Given the description of an element on the screen output the (x, y) to click on. 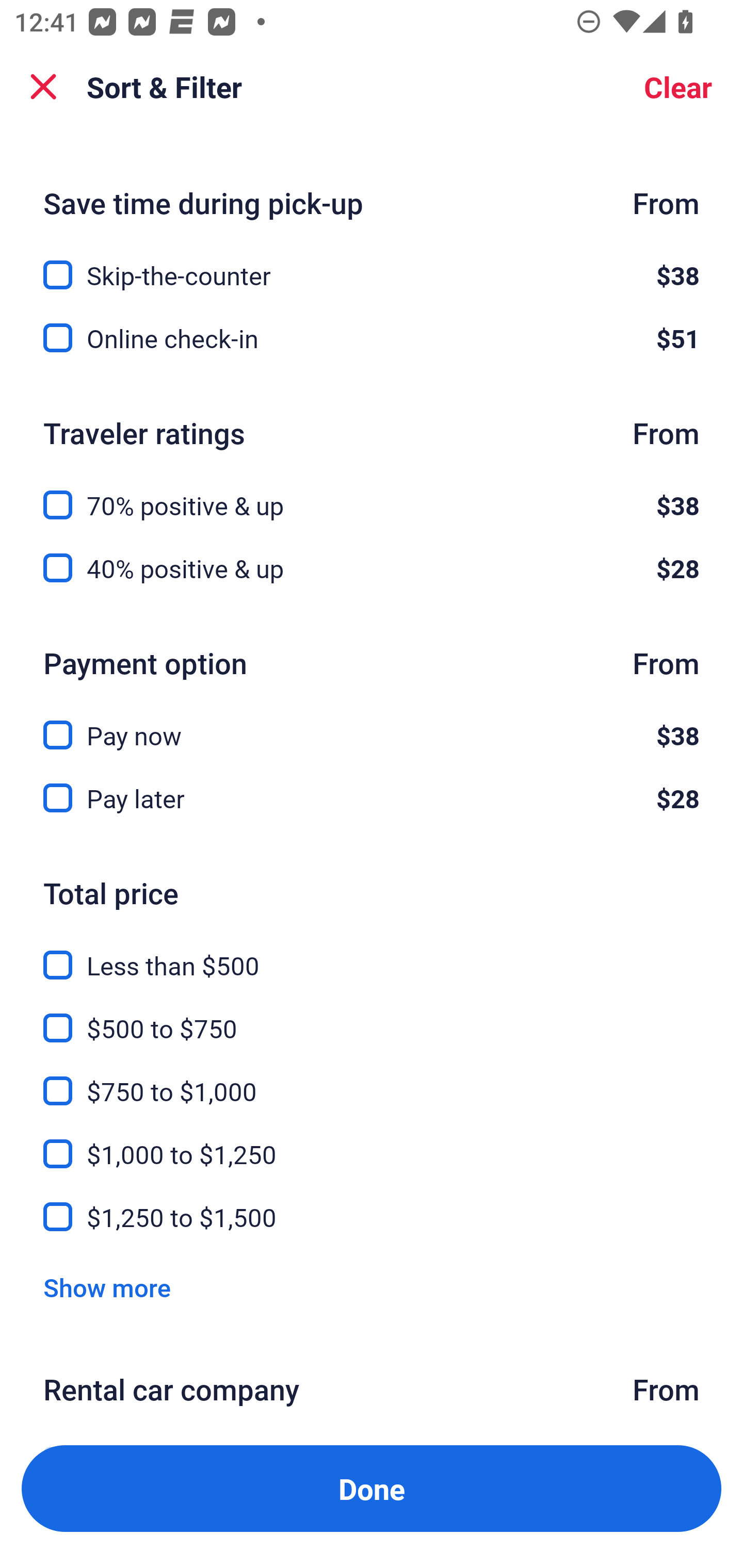
Close Sort and Filter (43, 86)
Clear (677, 86)
Skip-the-counter, $38 Skip-the-counter $38 (371, 263)
Online check-in, $51 Online check-in $51 (371, 337)
70% positive & up, $38 70% positive & up $38 (371, 493)
40% positive & up, $28 40% positive & up $28 (371, 568)
Pay now, $38 Pay now $38 (371, 723)
Pay later, $28 Pay later $28 (371, 798)
Less than $500, Less than $500 (371, 952)
$500 to $750, $500 to $750 (371, 1015)
$750 to $1,000, $750 to $1,000 (371, 1079)
$1,000 to $1,250, $1,000 to $1,250 (371, 1142)
$1,250 to $1,500, $1,250 to $1,500 (371, 1217)
Show more Show more Link (106, 1287)
Apply and close Sort and Filter Done (371, 1488)
